Given the description of an element on the screen output the (x, y) to click on. 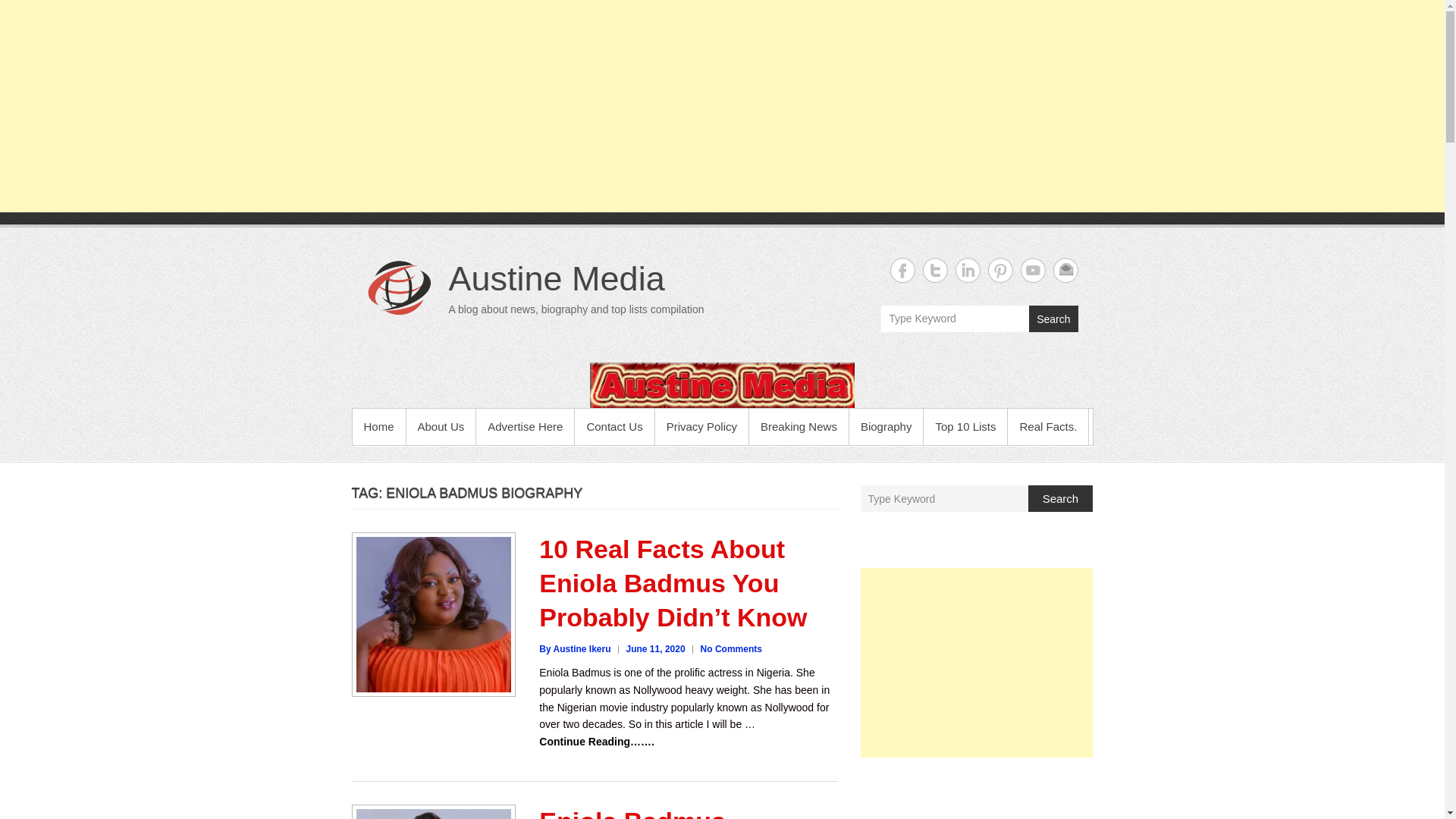
Eniola Badmus Biography and Net Worth (653, 812)
Search (1060, 498)
Type Keyword (944, 498)
About Us (441, 426)
Austine Media on Linkedin (967, 269)
Biography (885, 426)
Type Keyword (955, 318)
Austine Media YouTube (1032, 269)
Advertise Here (524, 426)
Austine Media on Email (1064, 269)
Austine Media on Pinterest (999, 269)
Austine Media on Twitter (934, 269)
Breaking News (798, 426)
No Comments (730, 648)
By Austine Ikeru (574, 648)
